Given the description of an element on the screen output the (x, y) to click on. 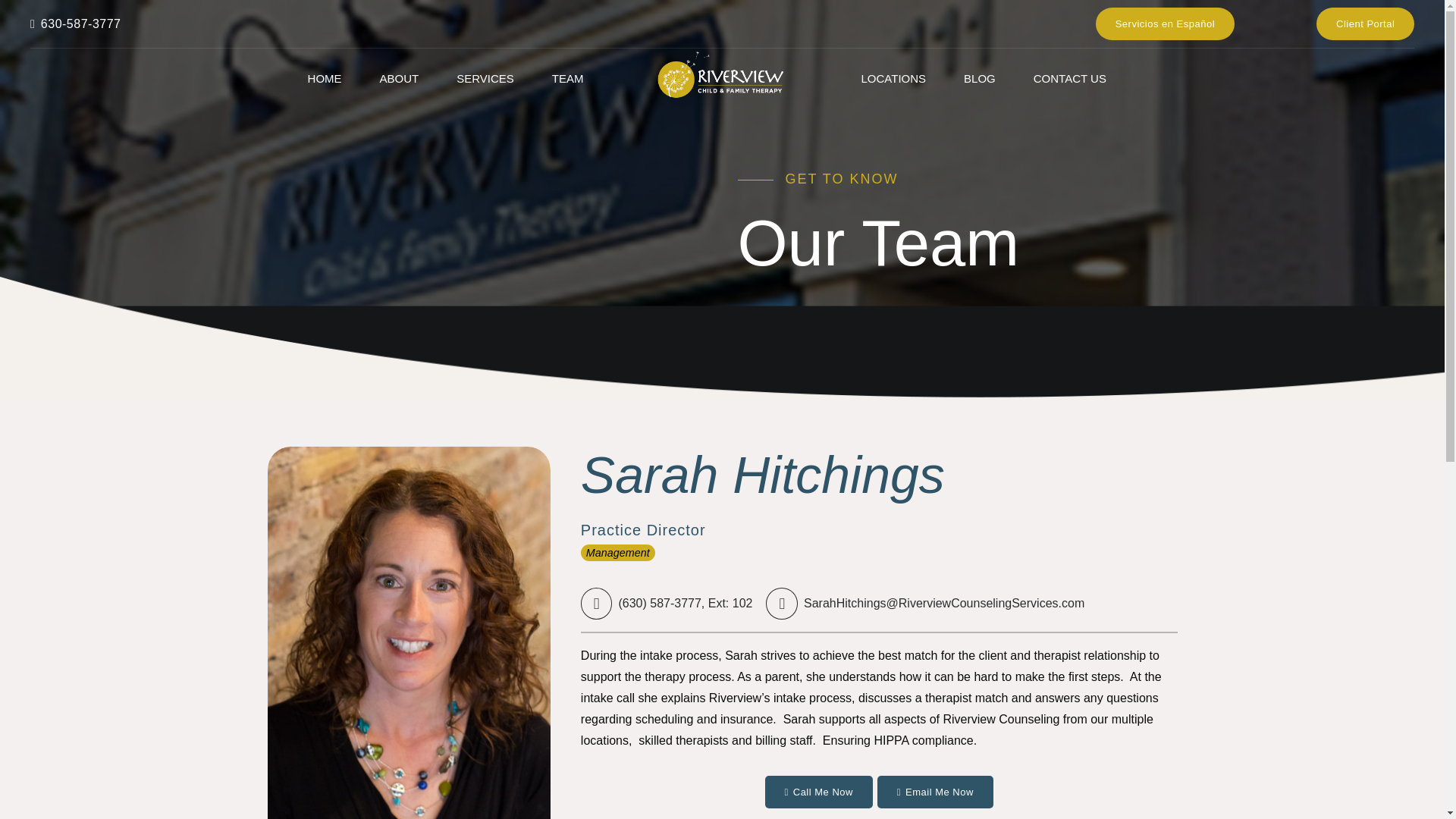
TEAM (567, 78)
Call Me Now (818, 791)
HOME (324, 78)
Email Me Now (934, 791)
ABOUT (399, 78)
Email Me Now (934, 791)
CONTACT US (1069, 78)
Client Portal (1364, 23)
SERVICES (485, 78)
Call Me Now (818, 791)
